Given the description of an element on the screen output the (x, y) to click on. 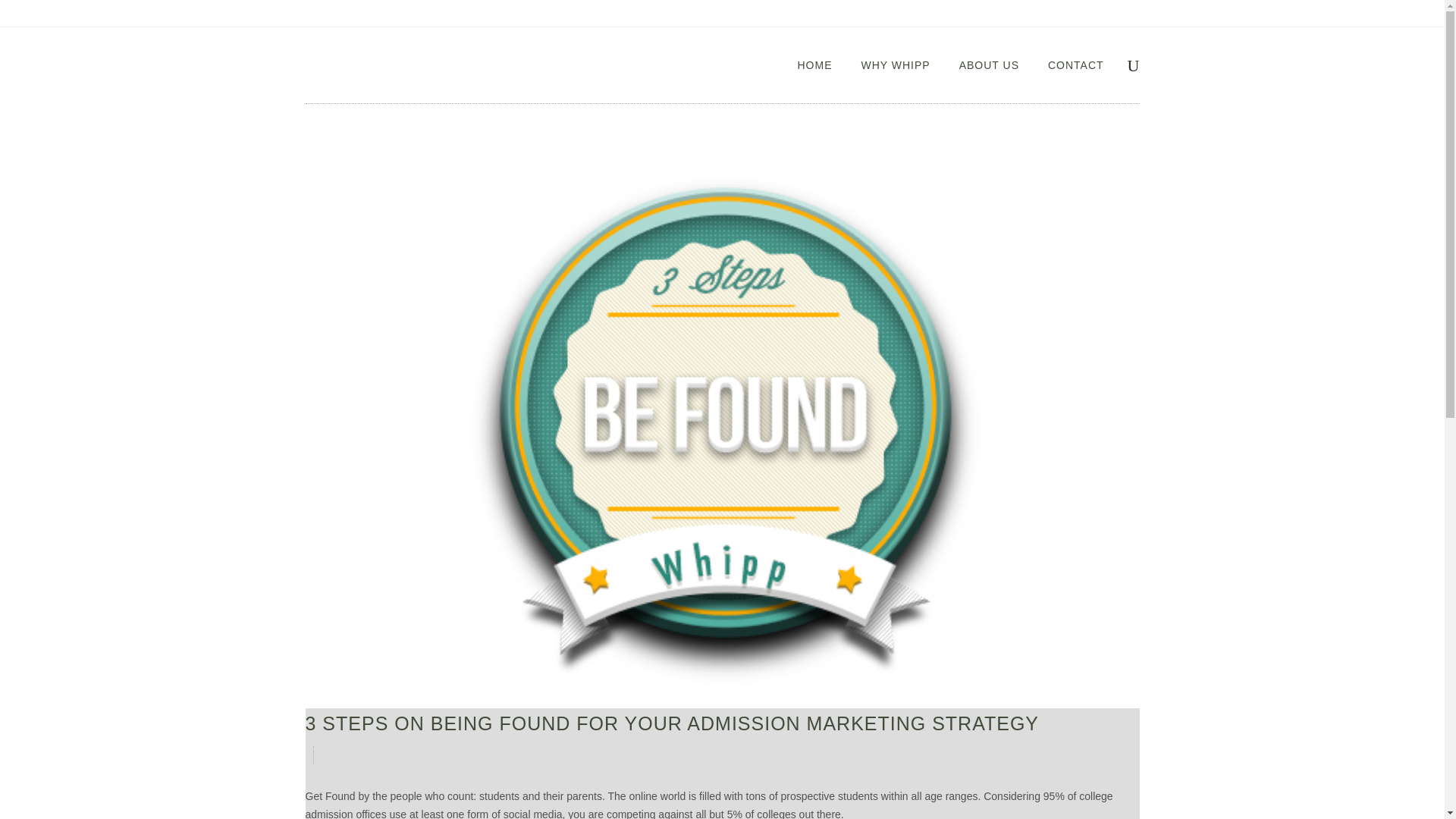
WHY WHIPP (894, 65)
CONTACT (1075, 65)
ABOUT US (988, 65)
U (995, 411)
